Given the description of an element on the screen output the (x, y) to click on. 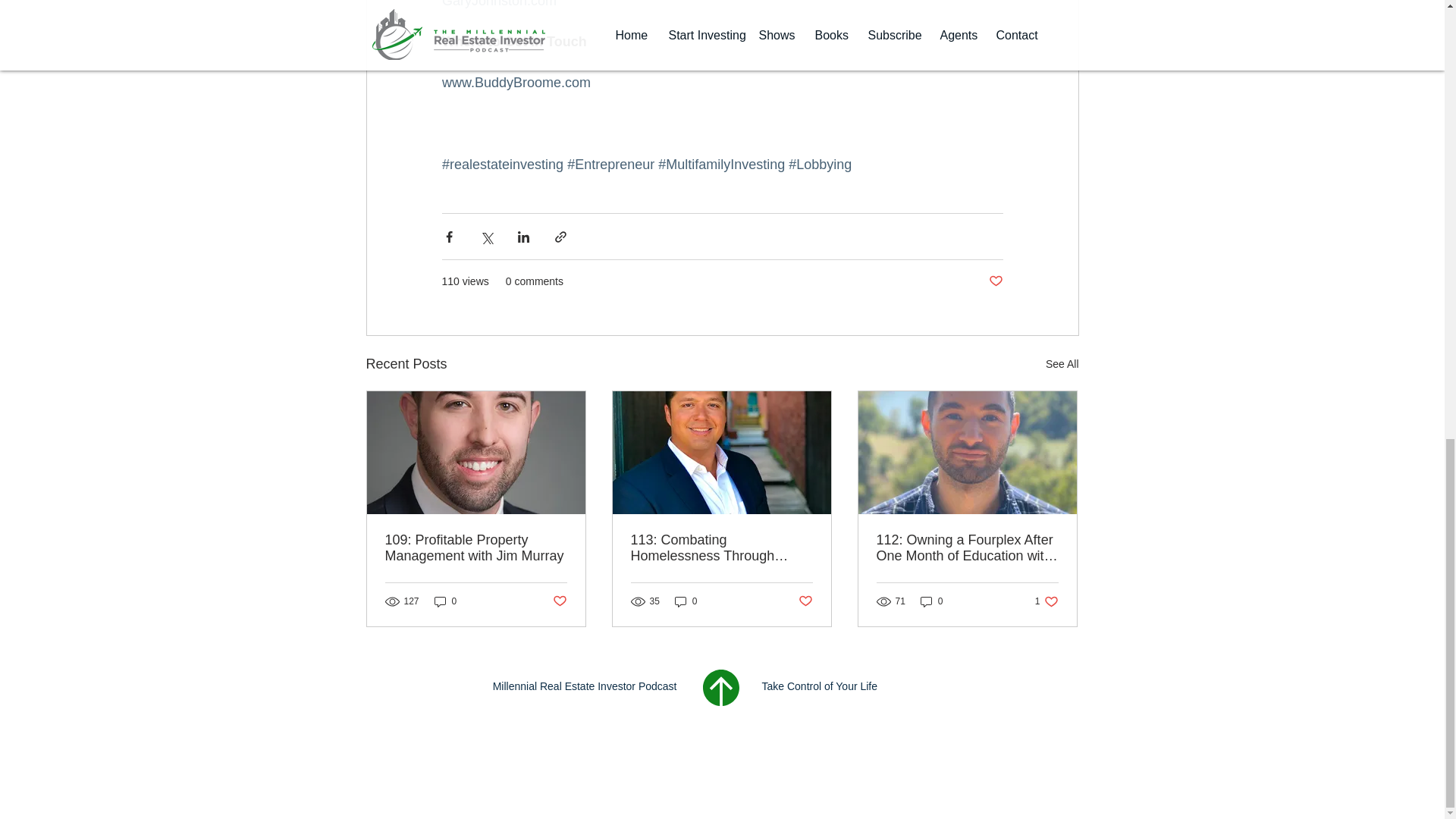
Post not marked as liked (558, 601)
0 (685, 600)
www.BuddyBroome.com (515, 82)
0 (445, 600)
Post not marked as liked (995, 281)
See All (1061, 363)
0 (1046, 600)
